Given the description of an element on the screen output the (x, y) to click on. 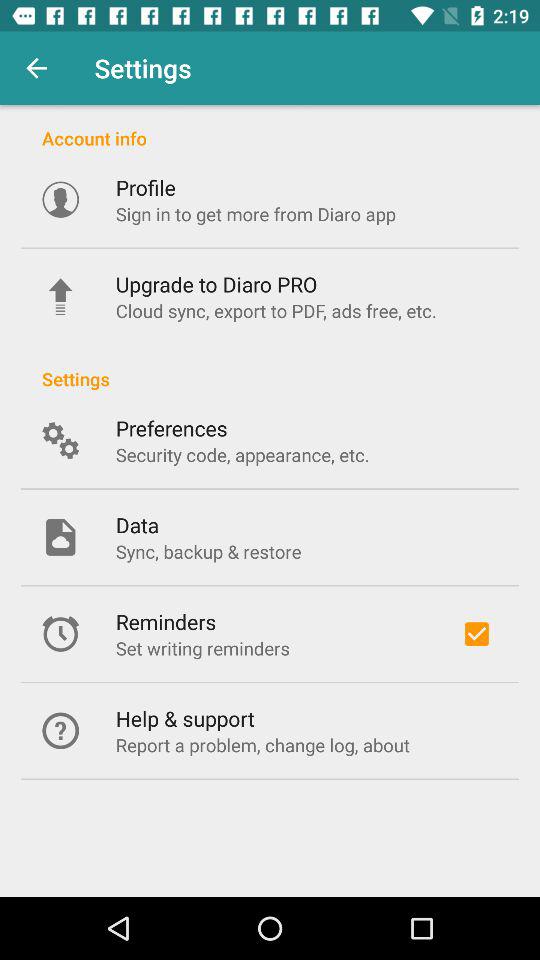
open icon to the right of set writing reminders icon (476, 634)
